Given the description of an element on the screen output the (x, y) to click on. 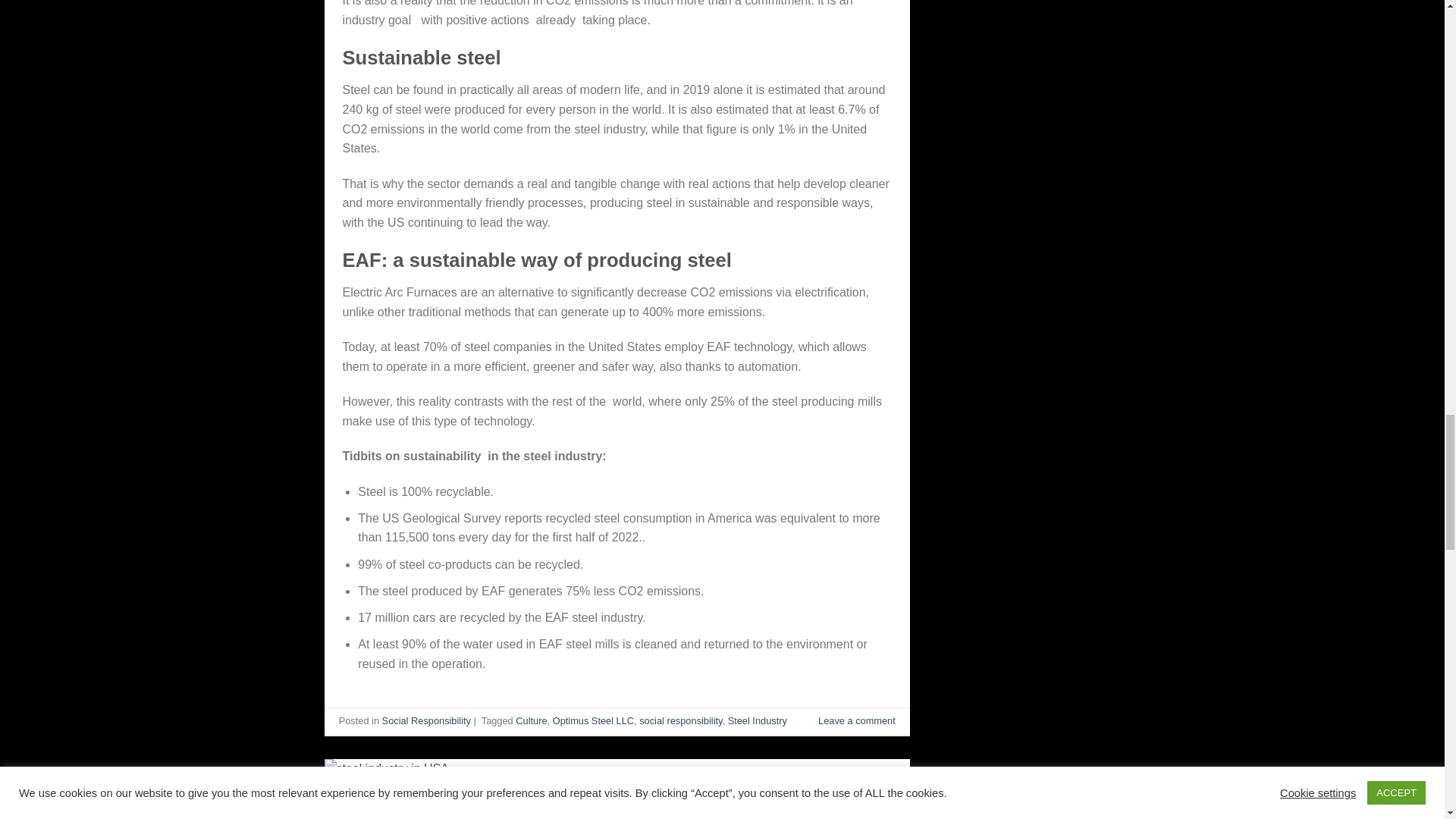
Social Responsibility (425, 720)
Culture (531, 720)
Optimus Steel LLC (593, 720)
social responsibility (680, 720)
Steel Industry (757, 720)
Leave a comment (856, 720)
